Given the description of an element on the screen output the (x, y) to click on. 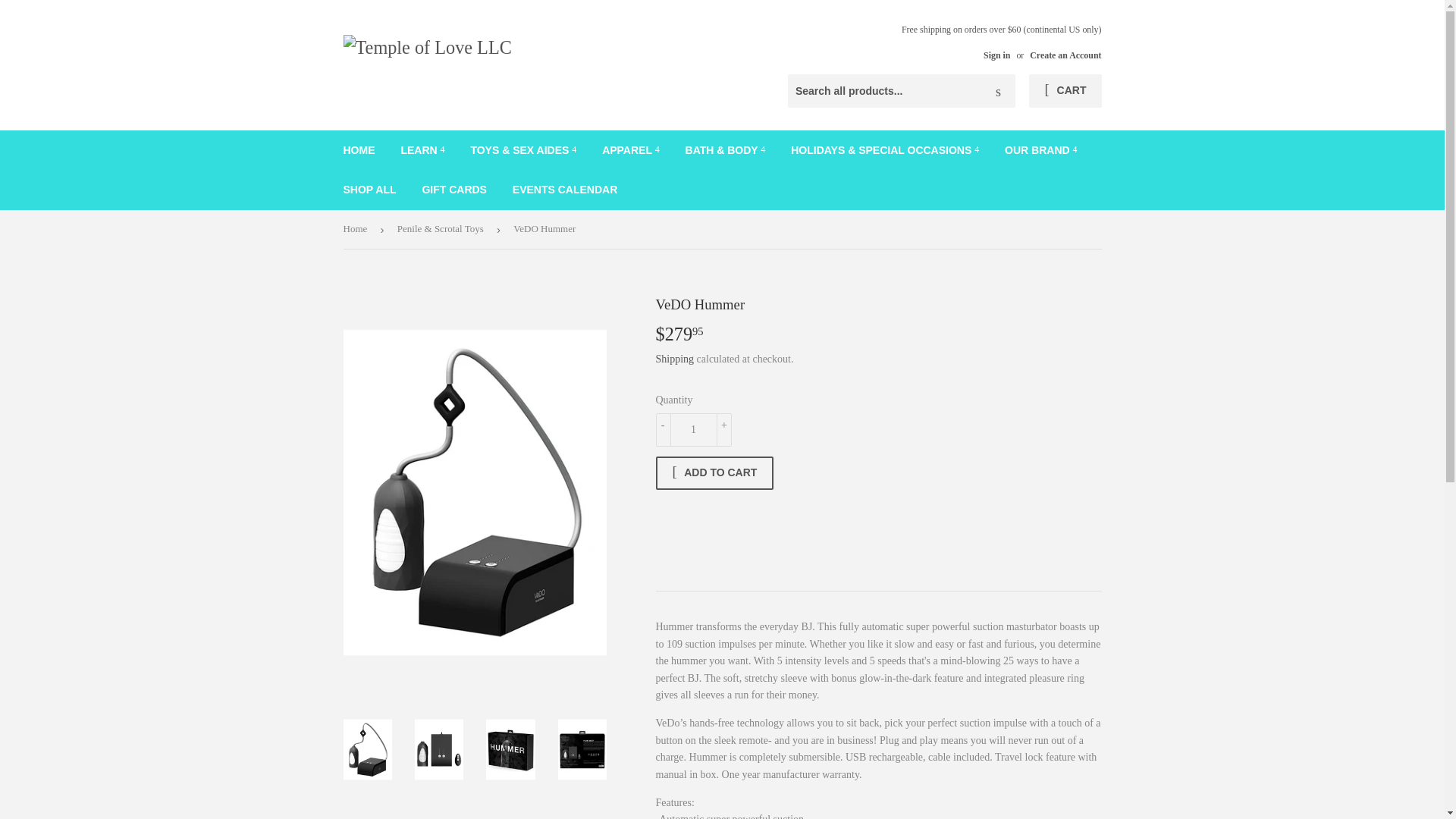
Sign in (997, 54)
1 (692, 429)
Create an Account (1064, 54)
CART (1064, 90)
Search (997, 91)
